Given the description of an element on the screen output the (x, y) to click on. 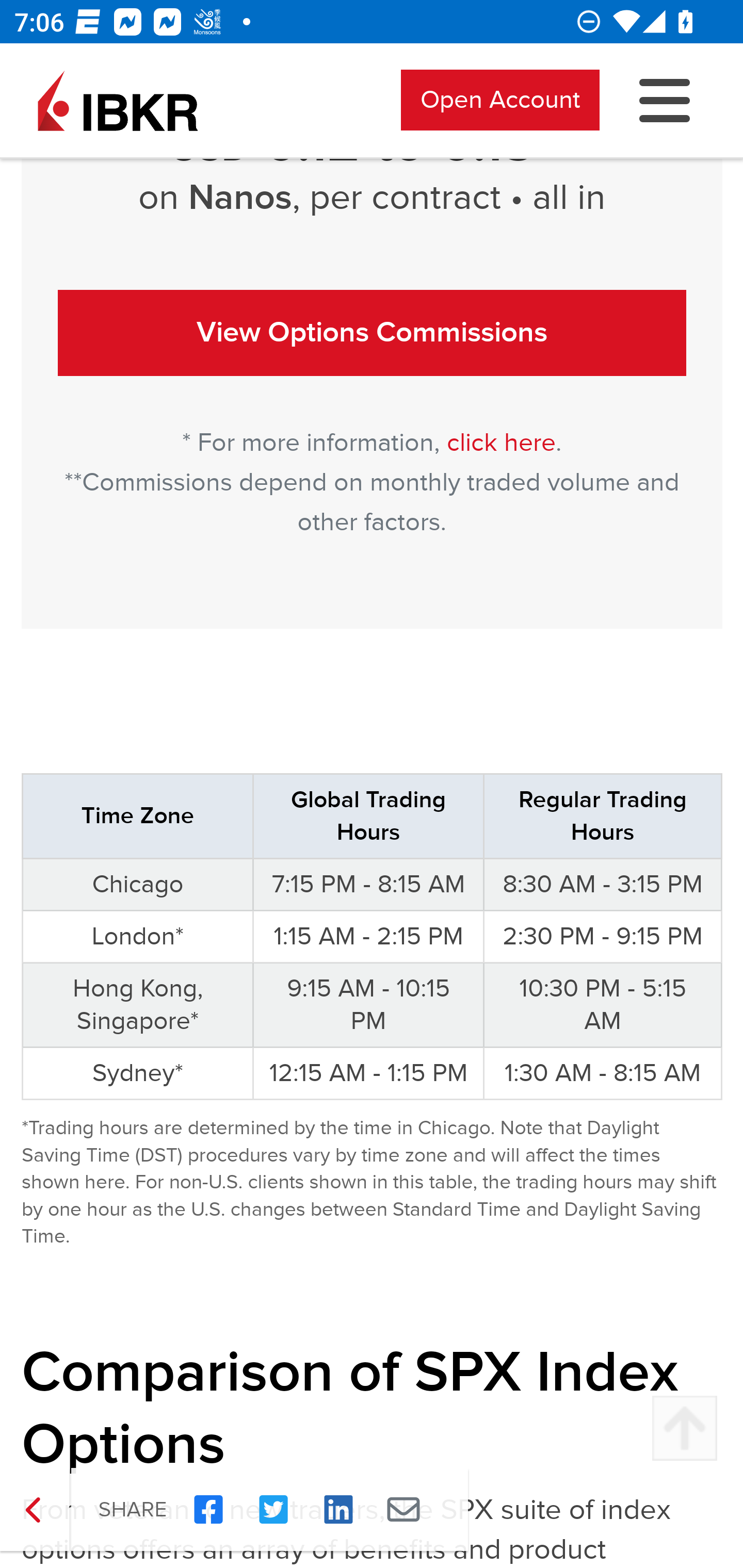
Interactive Brokers Home (117, 99)
Open Account (500, 99)
Toggle Navigation (665, 99)
View Options Commissions (372, 332)
click here (500, 442)
To Top (684, 1428)
Share on Facebook  (208, 1509)
Share on Twitter  (272, 1509)
Share on Linkedin  (338, 1509)
Share by Email  (403, 1509)
